Given the description of an element on the screen output the (x, y) to click on. 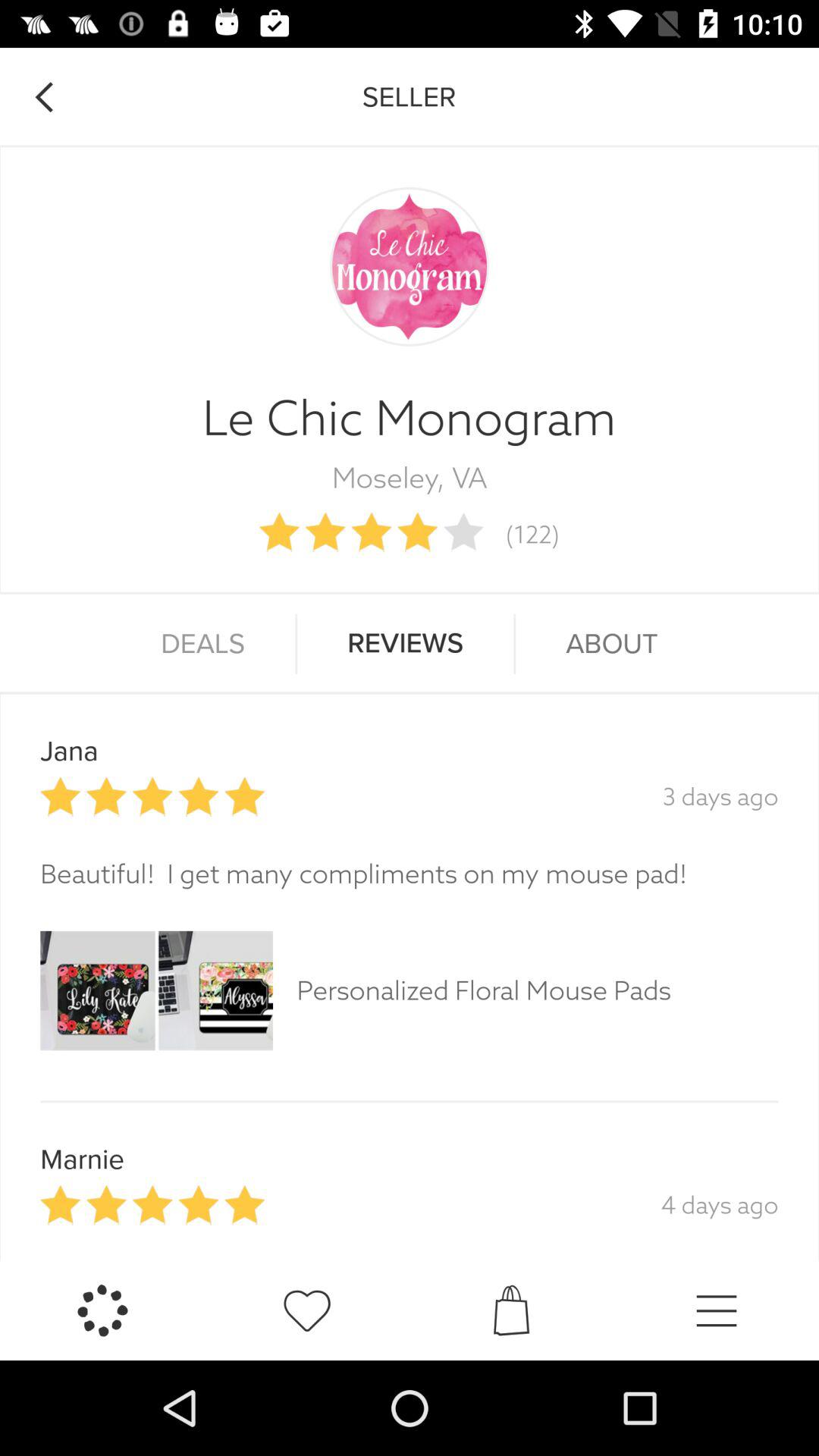
jump to reviews item (405, 643)
